Given the description of an element on the screen output the (x, y) to click on. 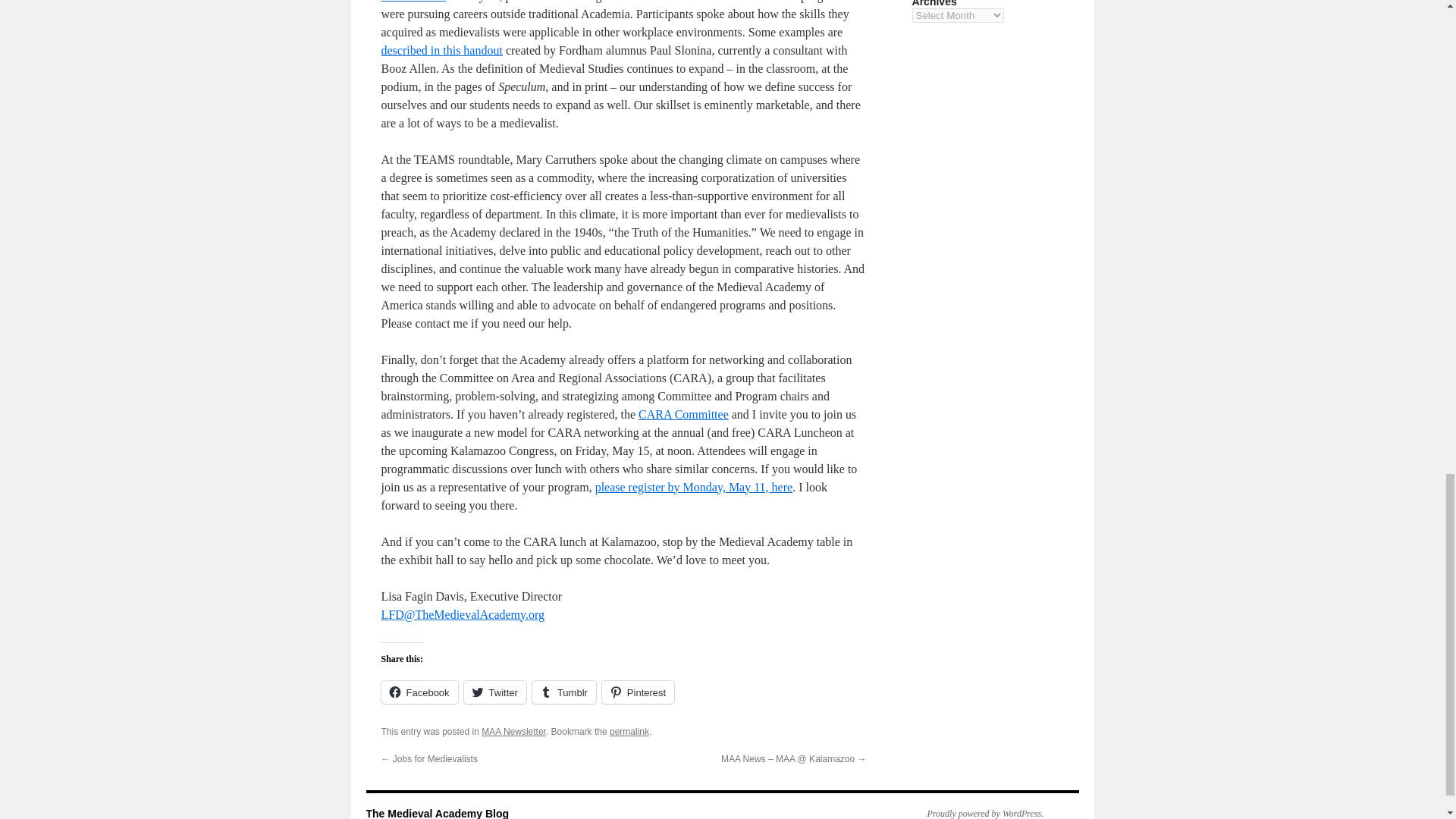
permalink (629, 731)
Click to share on Tumblr (563, 691)
Pinterest (638, 691)
Tumblr (563, 691)
Click to share on Facebook (418, 691)
Click to share on Twitter (494, 691)
Facebook (418, 691)
described in this handout (441, 50)
MAA Newsletter (513, 731)
